Given the description of an element on the screen output the (x, y) to click on. 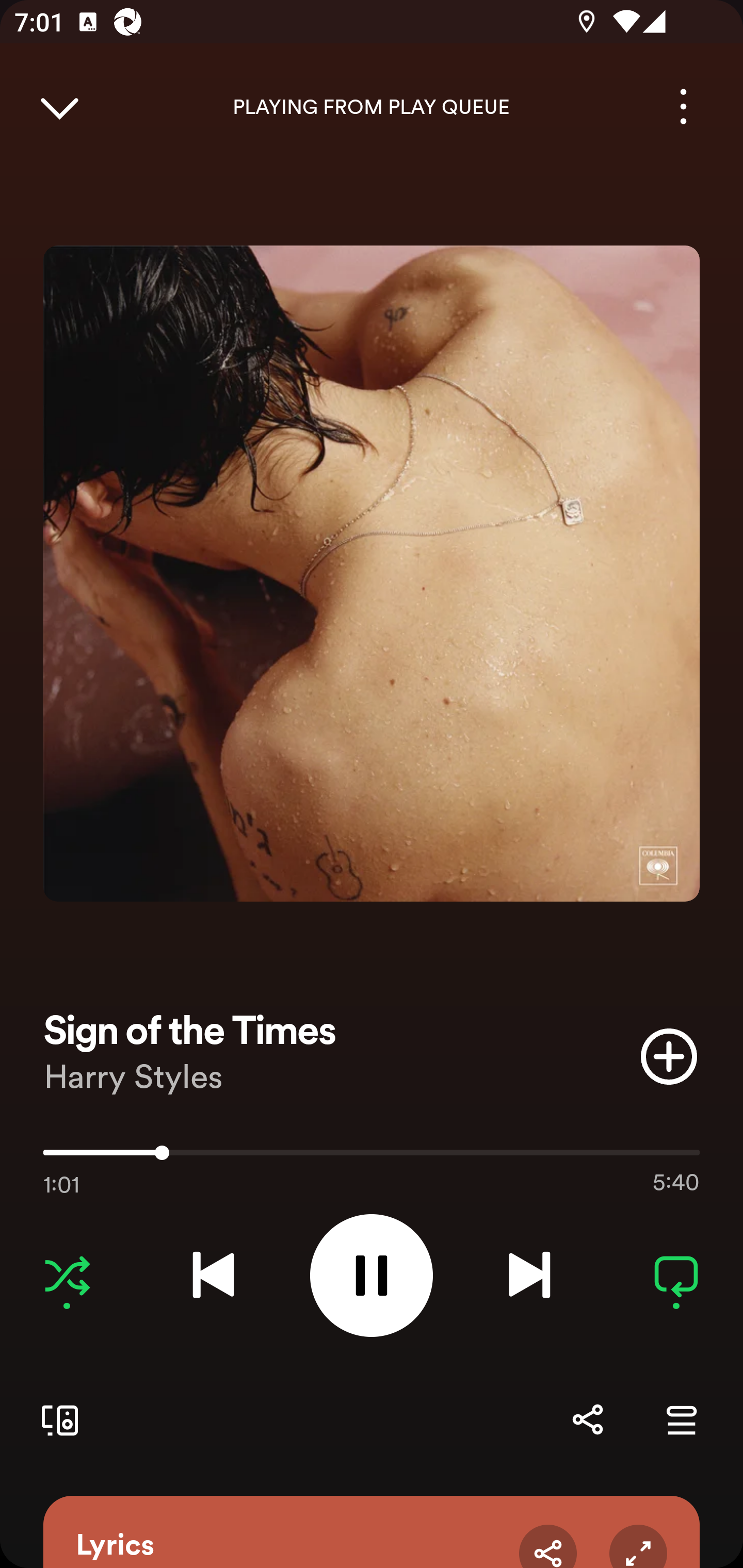
Close (59, 106)
More options for song Sign of the Times (683, 106)
PLAYING FROM PLAY QUEUE (371, 107)
Add item (669, 1056)
1:01 5:40 61222.0 Use volume keys to adjust (371, 1157)
Pause (371, 1275)
Previous (212, 1275)
Next (529, 1275)
Stop shuffling tracks (66, 1275)
Repeat (676, 1275)
Share (587, 1419)
Go to Queue (681, 1419)
Connect to a device. Opens the devices menu (55, 1419)
Lyrics Share Expand (371, 1531)
Share (547, 1546)
Expand (638, 1546)
